Given the description of an element on the screen output the (x, y) to click on. 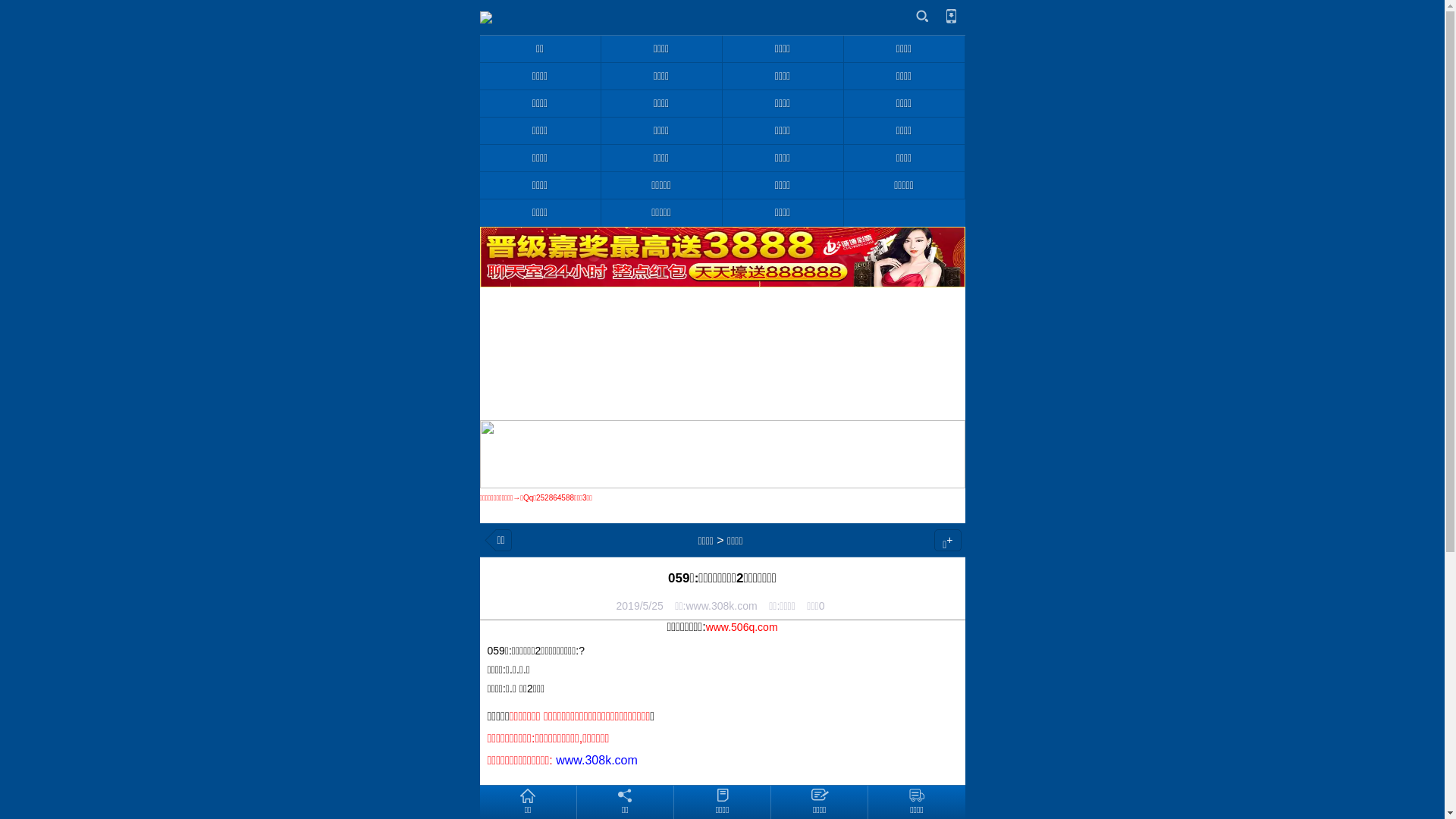
www.308k.com Element type: text (596, 760)
